Given the description of an element on the screen output the (x, y) to click on. 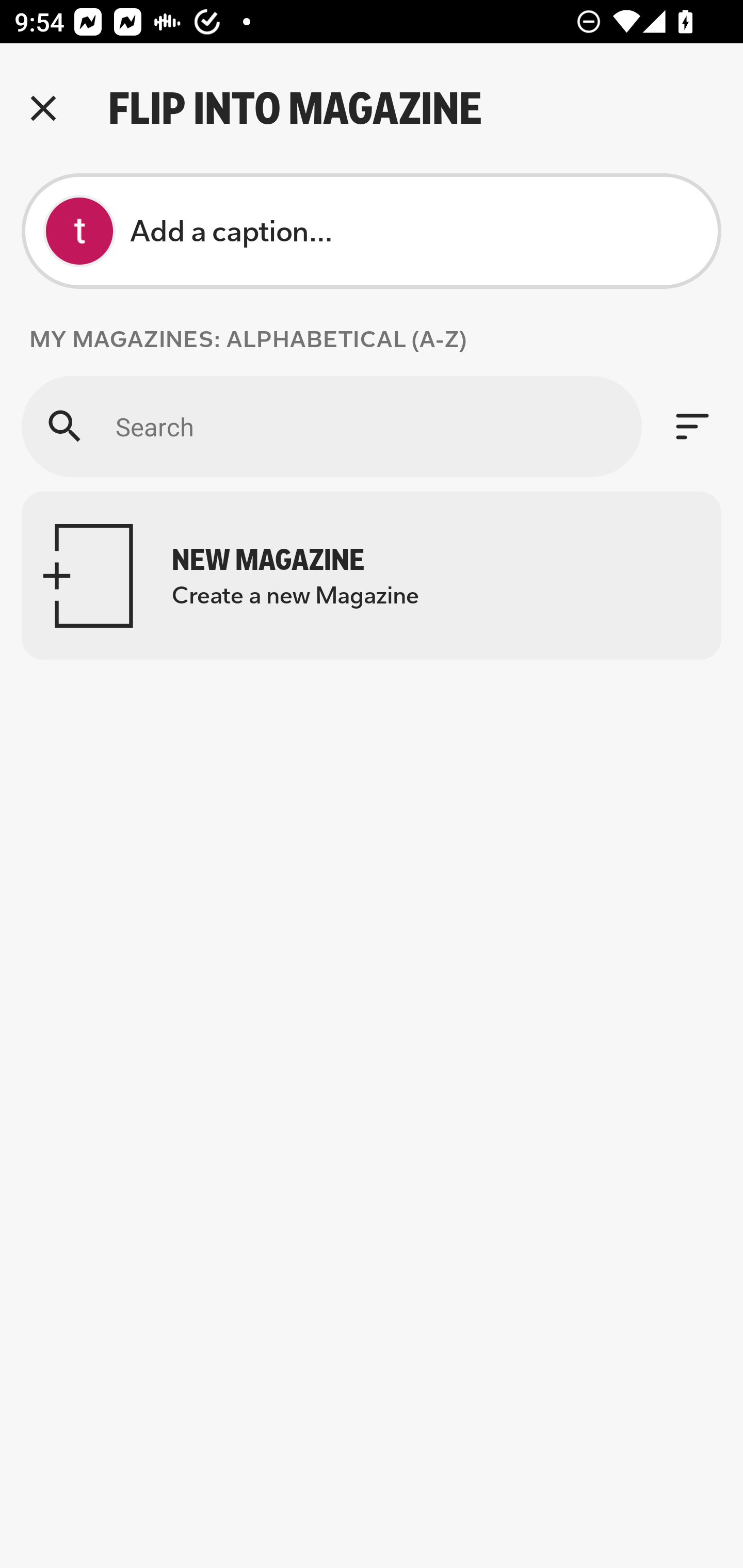
test appium Add a caption… (371, 231)
Search (331, 426)
NEW MAGAZINE Create a new Magazine (371, 575)
